Given the description of an element on the screen output the (x, y) to click on. 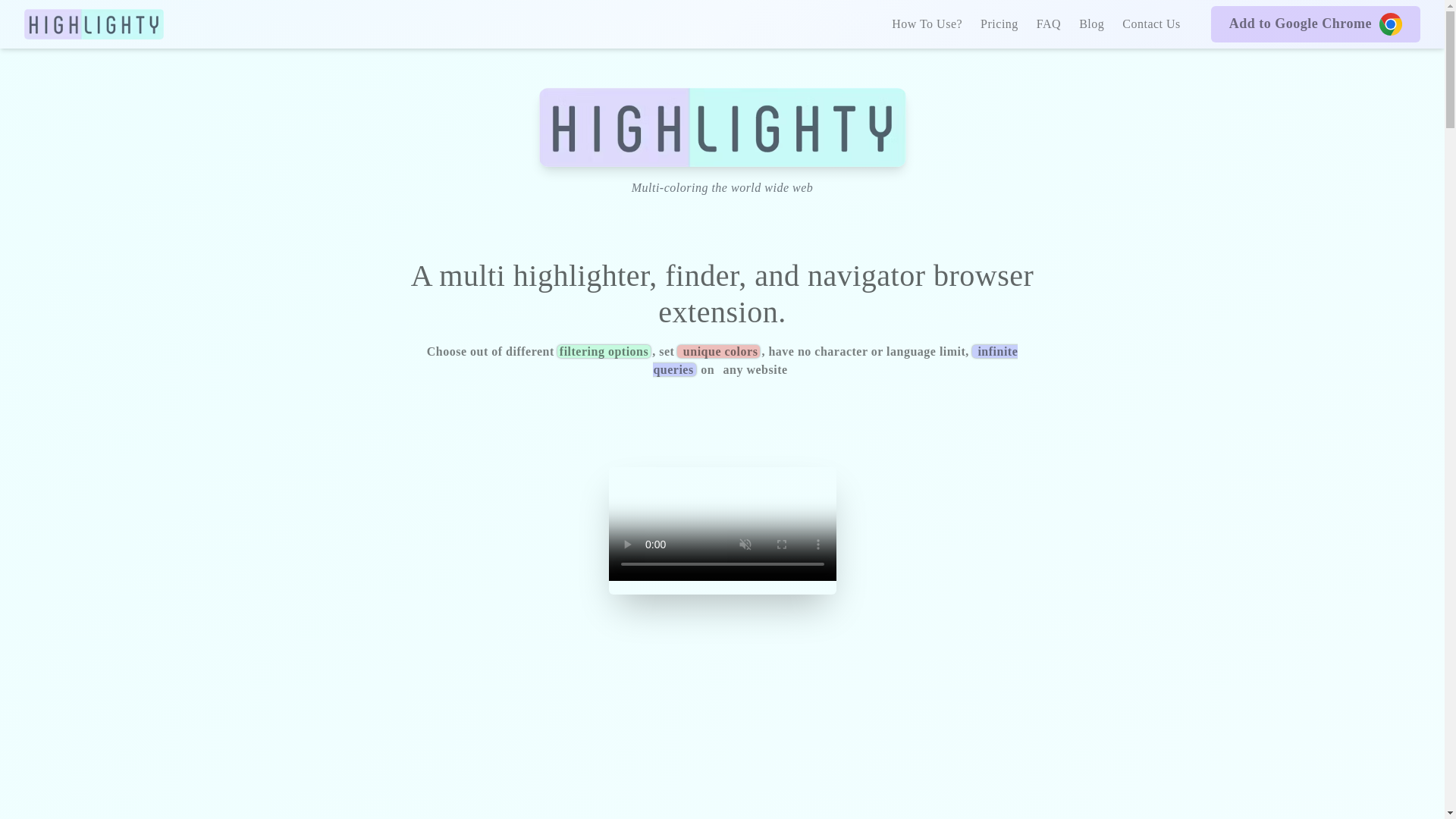
Blog (1090, 24)
Contact Us (1151, 24)
Pricing (998, 24)
How To Use? (926, 24)
FAQ (1048, 24)
Add to Google Chrome (1316, 23)
